Given the description of an element on the screen output the (x, y) to click on. 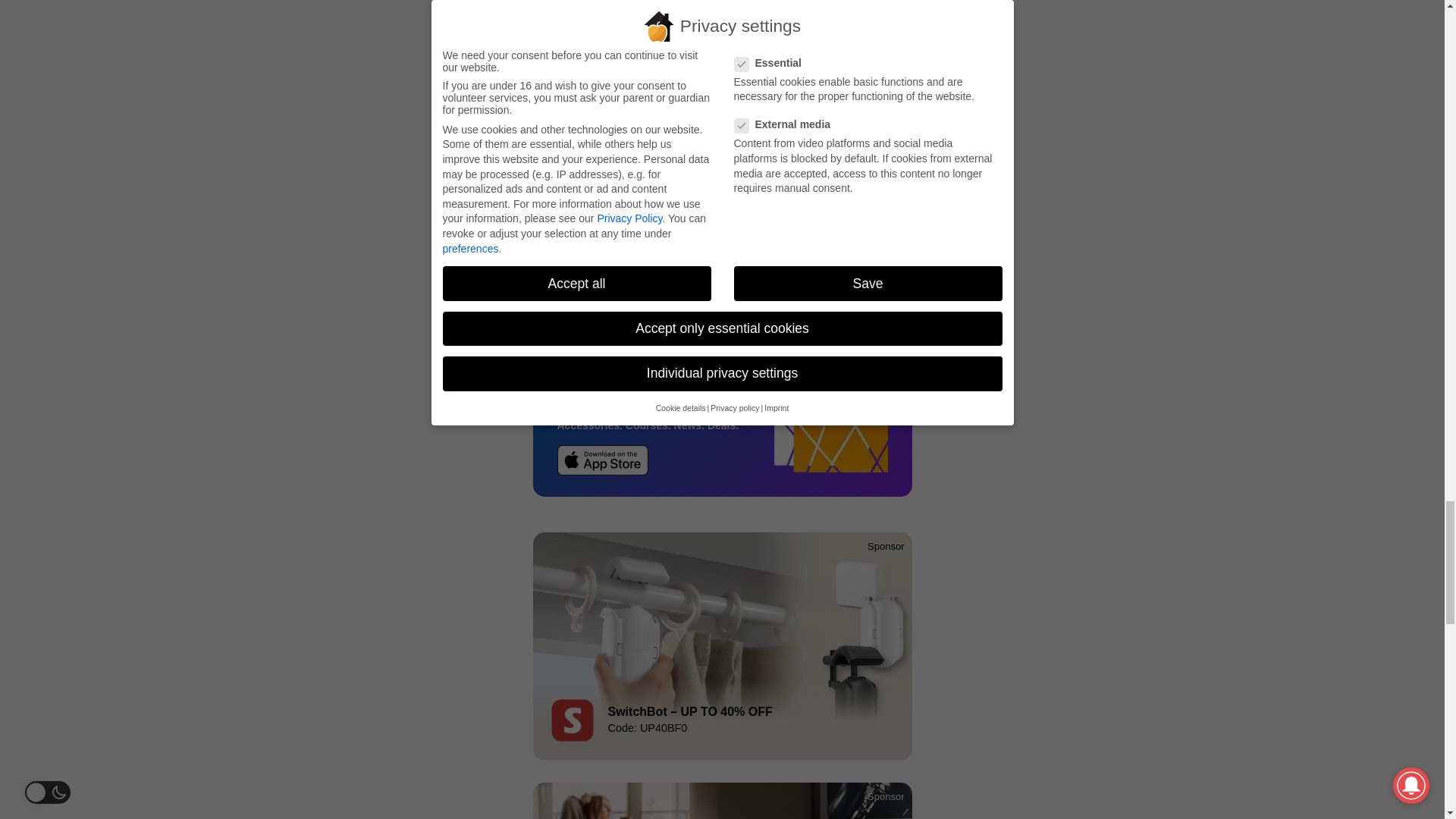
Aqara Dual Relay Module T2 (771, 265)
